Given the description of an element on the screen output the (x, y) to click on. 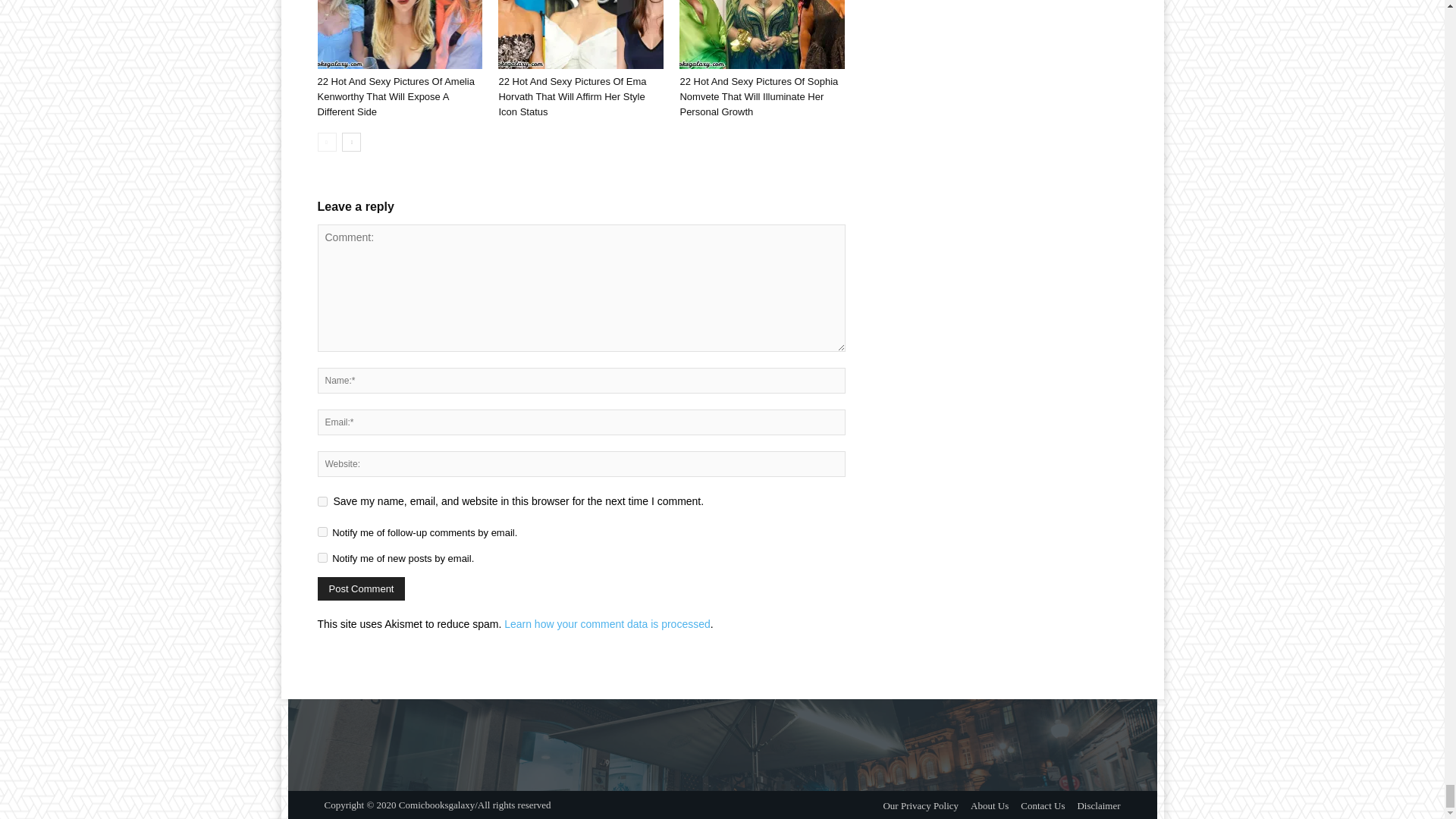
Post Comment (360, 588)
subscribe (321, 532)
yes (321, 501)
subscribe (321, 557)
